Given the description of an element on the screen output the (x, y) to click on. 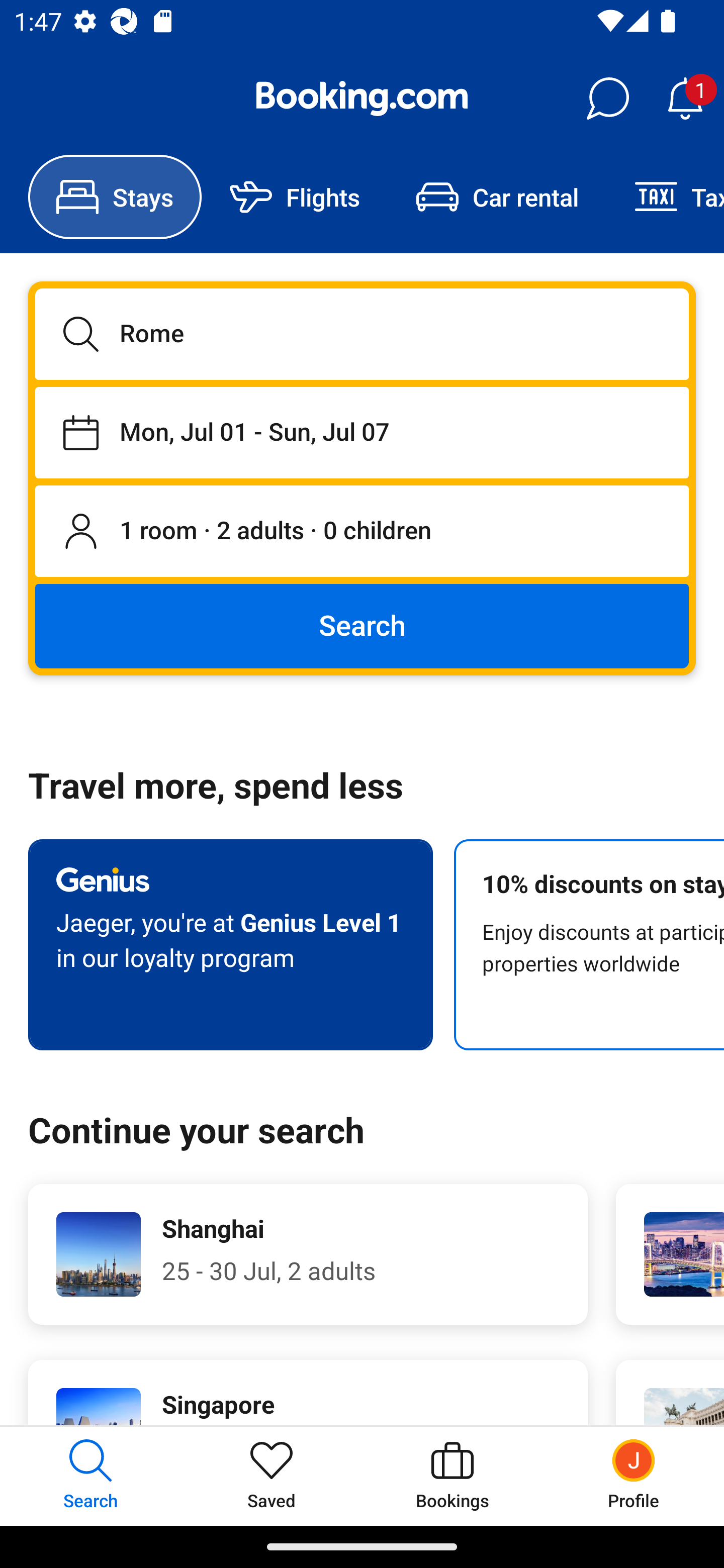
Messages (607, 98)
Notifications (685, 98)
Stays (114, 197)
Flights (294, 197)
Car rental (497, 197)
Taxi (665, 197)
Rome (361, 333)
Staying from Mon, Jul 01 until Sun, Jul 07 (361, 432)
1 room, 2 adults, 0 children (361, 531)
Search (361, 625)
Shanghai 25 - 30 Jul, 2 adults (307, 1253)
Saved (271, 1475)
Bookings (452, 1475)
Profile (633, 1475)
